Given the description of an element on the screen output the (x, y) to click on. 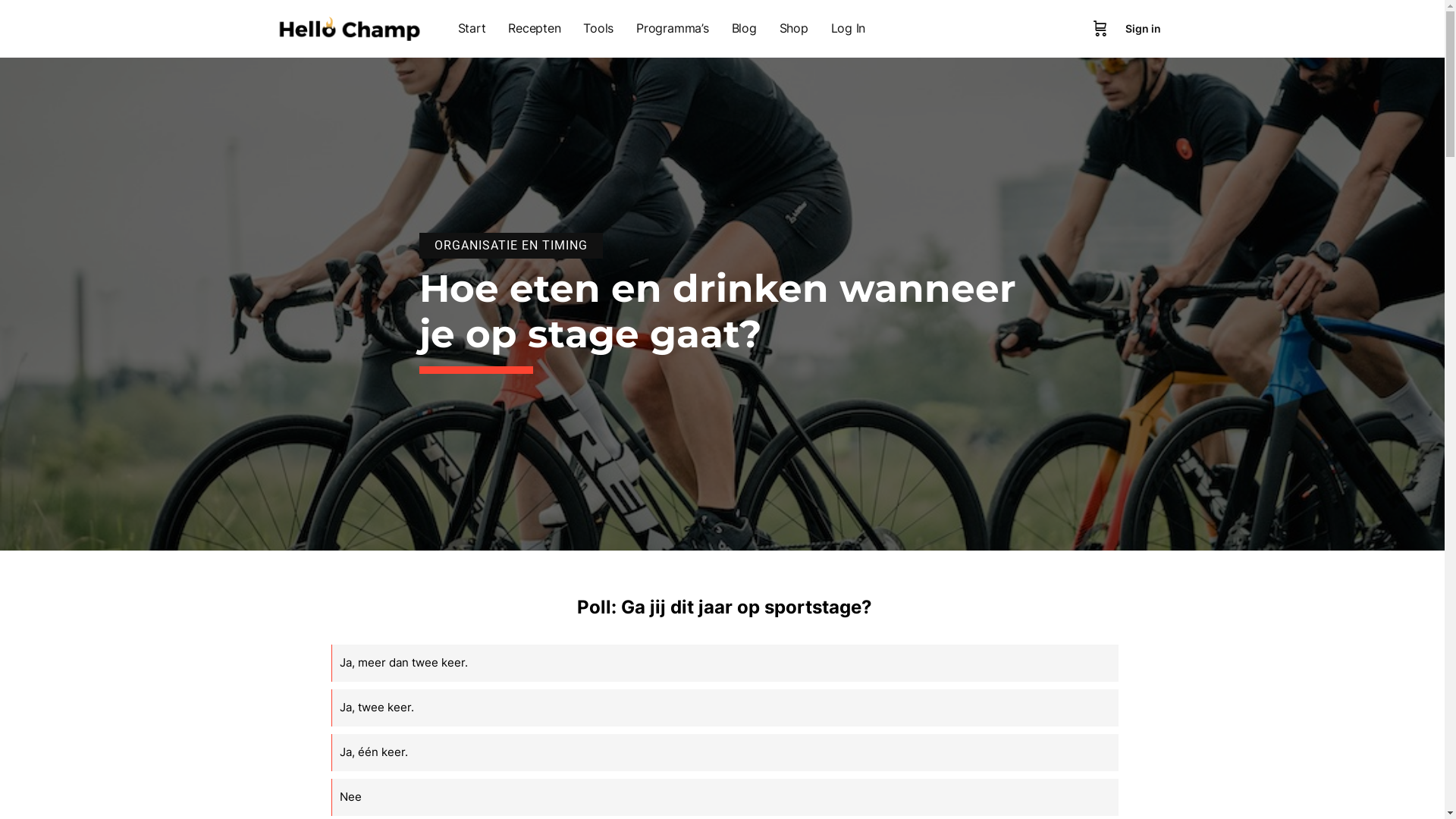
Shop Element type: text (793, 28)
Start Element type: text (471, 28)
Log In Element type: text (848, 28)
Blog Element type: text (744, 28)
Tools Element type: text (598, 28)
Recepten Element type: text (533, 28)
Sign in Element type: text (1143, 28)
